Given the description of an element on the screen output the (x, y) to click on. 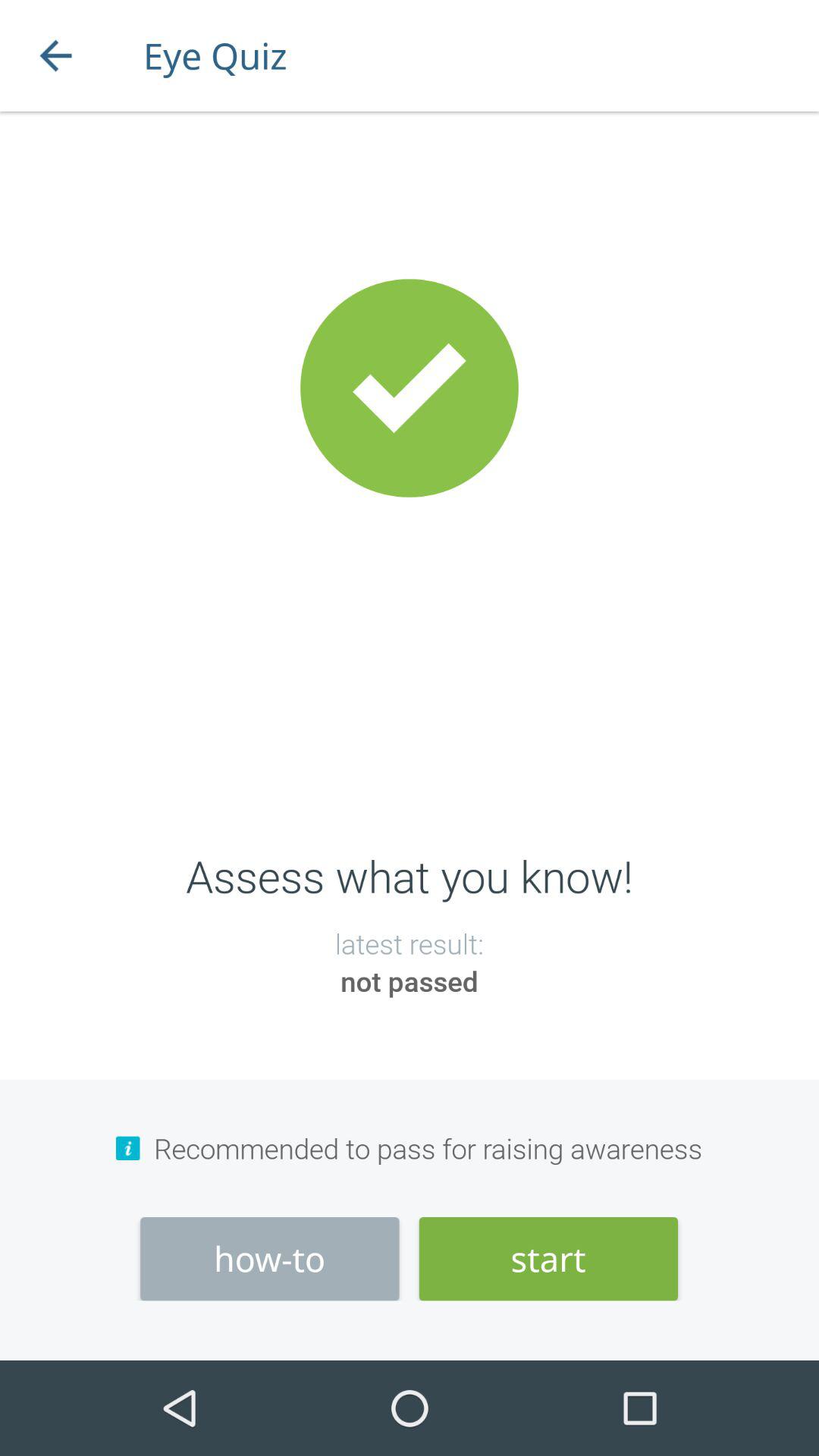
choose item to the left of eye quiz icon (55, 55)
